Given the description of an element on the screen output the (x, y) to click on. 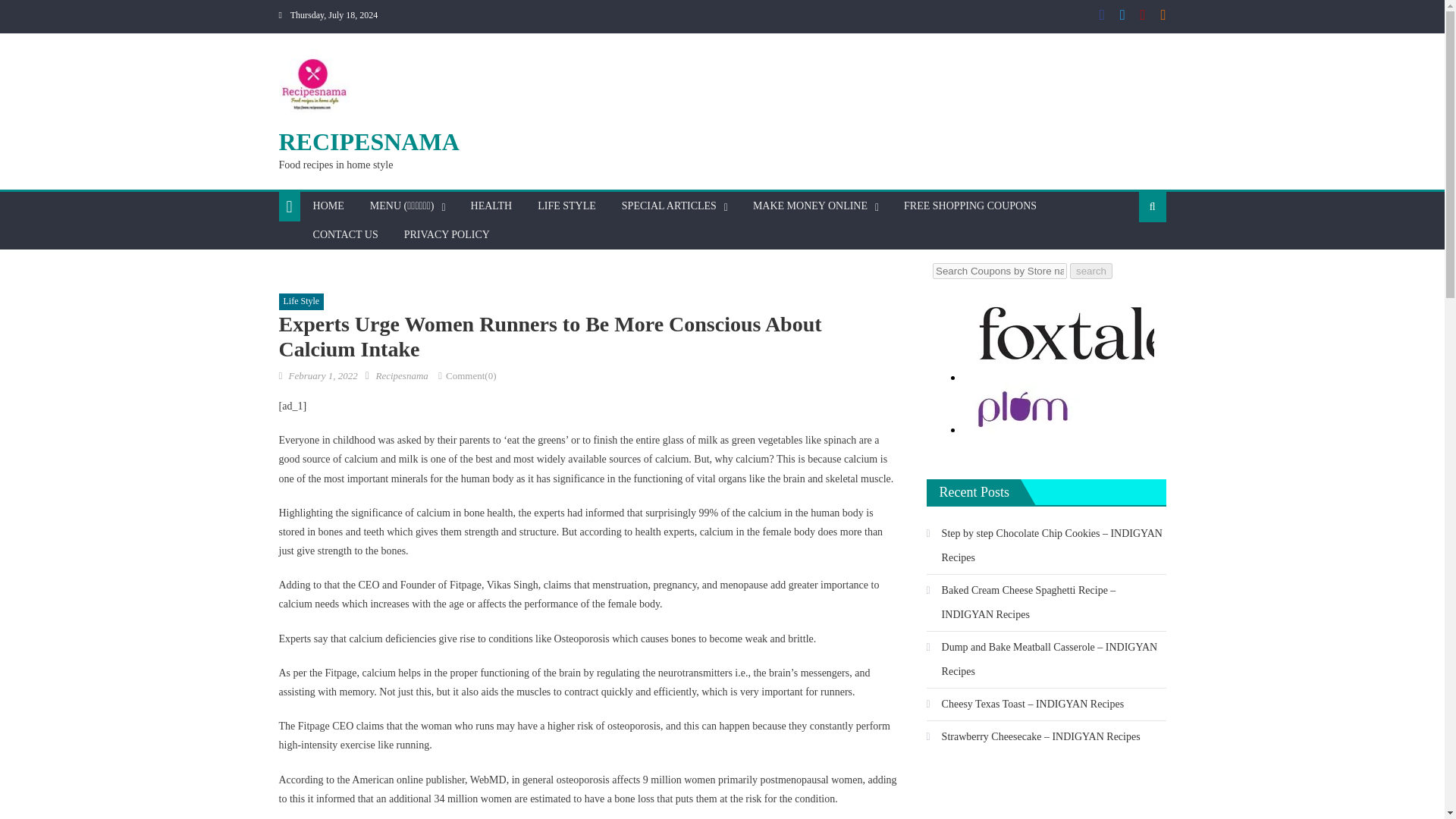
RECIPESNAMA (369, 141)
SPECIAL ARTICLES (669, 205)
LIFE STYLE (566, 205)
HOME (328, 205)
MAKE MONEY ONLINE (810, 205)
HEALTH (492, 205)
